Given the description of an element on the screen output the (x, y) to click on. 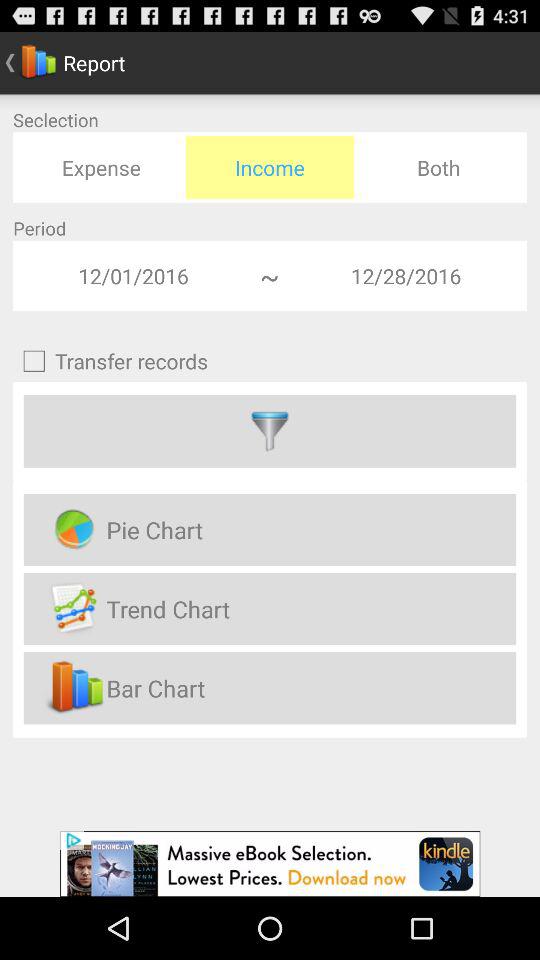
details about advertisement (270, 864)
